Given the description of an element on the screen output the (x, y) to click on. 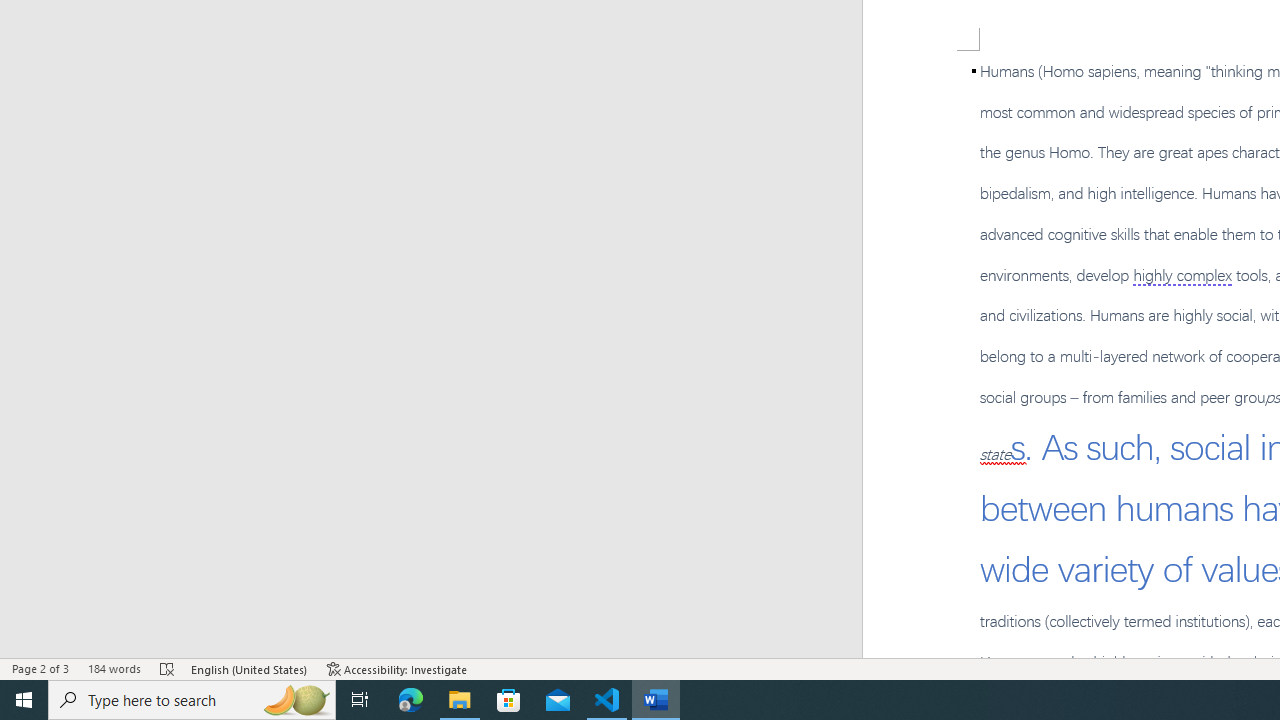
Visual Studio Code - 1 running window (607, 699)
Search highlights icon opens search home window (295, 699)
Microsoft Edge (411, 699)
Page Number Page 2 of 3 (39, 668)
Type here to search (191, 699)
Spelling and Grammar Check Errors (168, 668)
Task View (359, 699)
Word - 1 running window (656, 699)
Start (24, 699)
Language English (United States) (250, 668)
Microsoft Store (509, 699)
File Explorer - 1 running window (460, 699)
Accessibility Checker Accessibility: Investigate (397, 668)
